Given the description of an element on the screen output the (x, y) to click on. 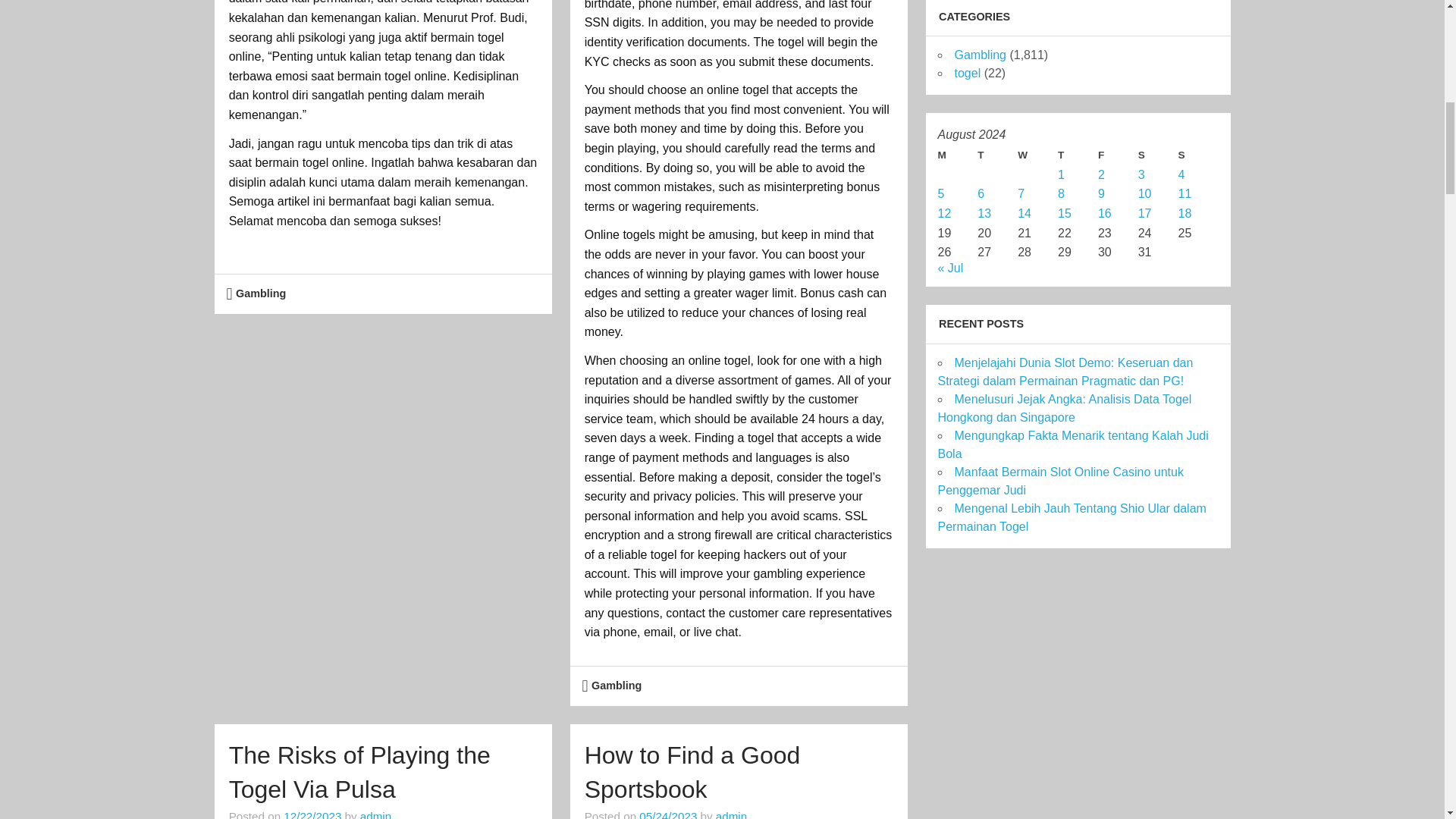
admin (375, 814)
Gambling (616, 685)
View all posts by admin (731, 814)
How to Find a Good Sportsbook (692, 772)
Gambling (260, 293)
admin (731, 814)
8:50 AM (668, 814)
The Risks of Playing the Togel Via Pulsa (359, 772)
5:19 PM (311, 814)
View all posts by admin (375, 814)
